Given the description of an element on the screen output the (x, y) to click on. 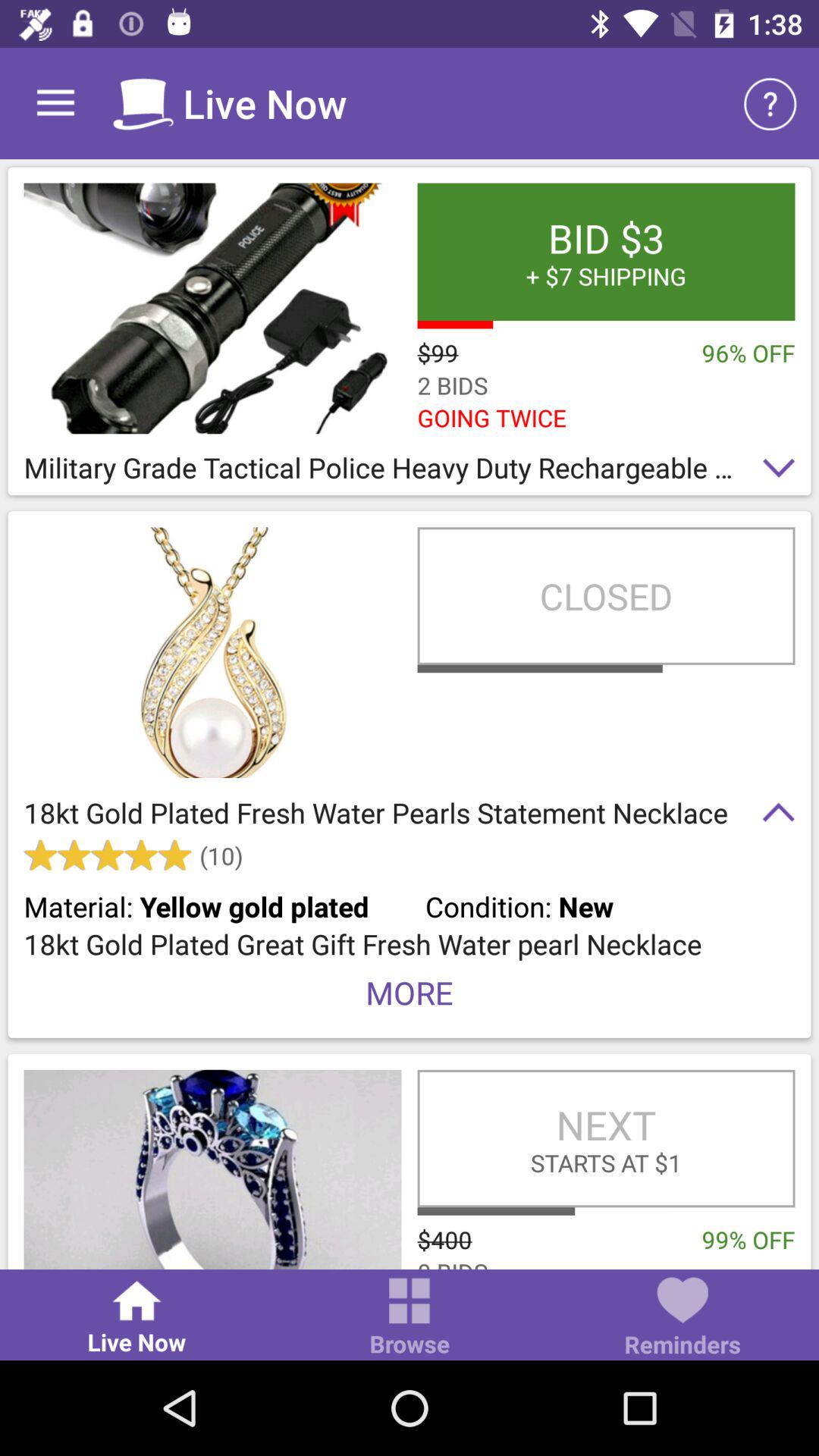
select the item below more (606, 1138)
